Given the description of an element on the screen output the (x, y) to click on. 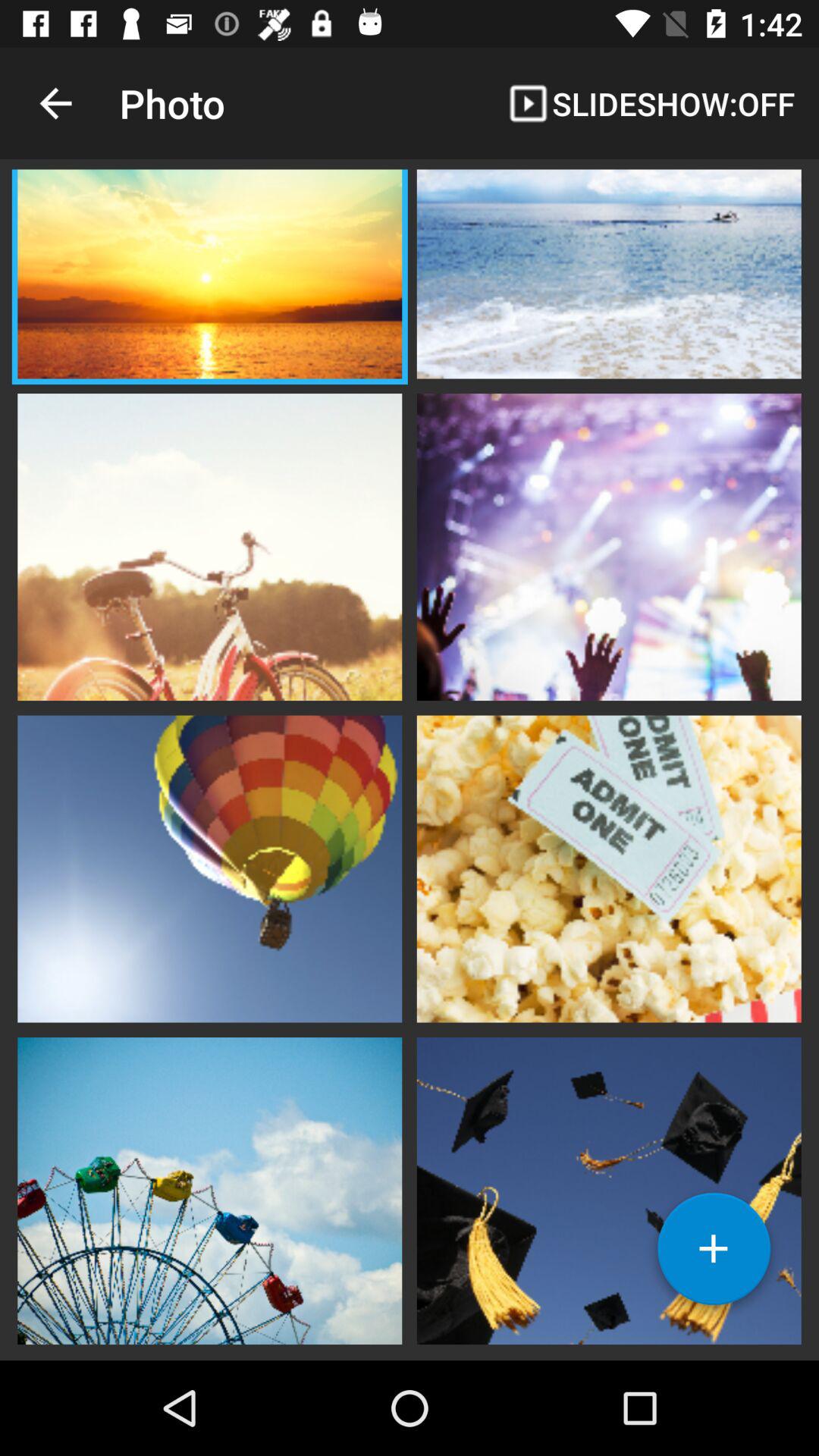
bi-cycle at nature (209, 545)
